Given the description of an element on the screen output the (x, y) to click on. 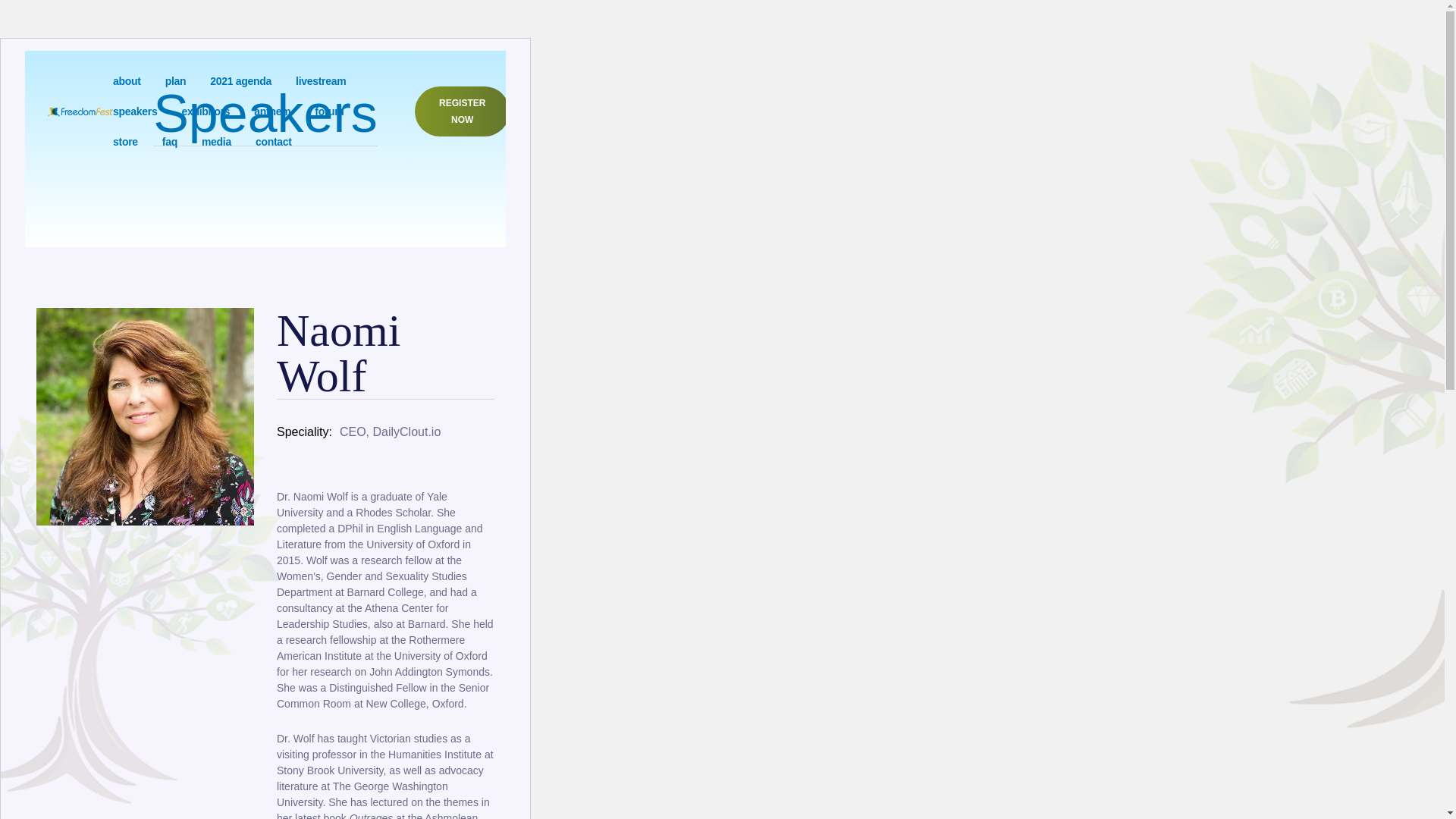
anthem (271, 111)
exhibitors (205, 111)
livestream (320, 81)
media (216, 141)
about (127, 81)
contact (274, 141)
speakers (135, 111)
2021 agenda (239, 81)
forum (328, 111)
